Given the description of an element on the screen output the (x, y) to click on. 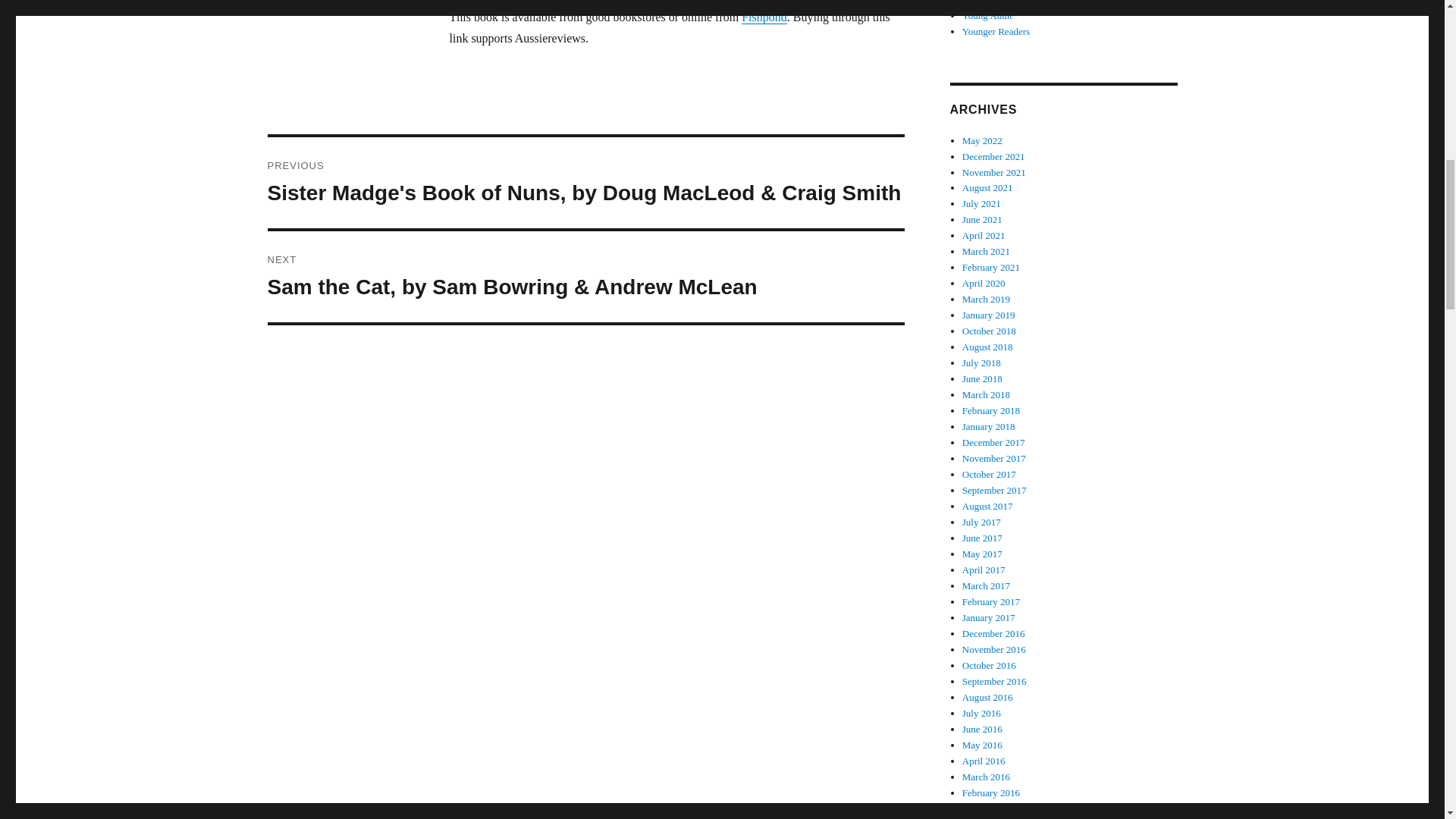
Uncategorised (990, 2)
Fishpond (764, 16)
April 2021 (984, 235)
Younger Readers (995, 30)
December 2021 (993, 156)
August 2021 (987, 187)
May 2022 (982, 140)
Young Adult (986, 15)
July 2021 (981, 203)
June 2021 (982, 219)
March 2021 (986, 251)
November 2021 (994, 172)
